Given the description of an element on the screen output the (x, y) to click on. 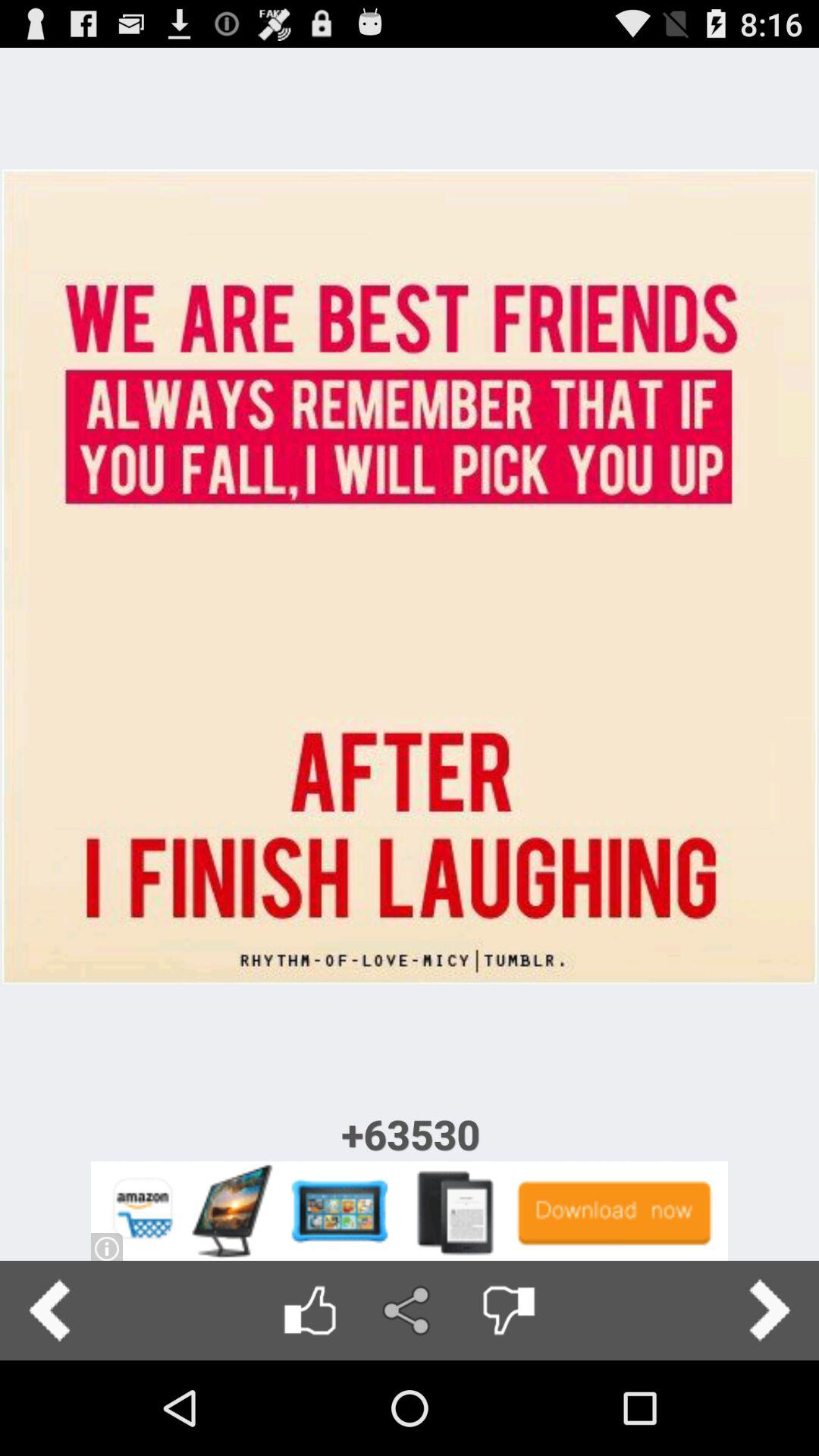
like button (309, 1310)
